Given the description of an element on the screen output the (x, y) to click on. 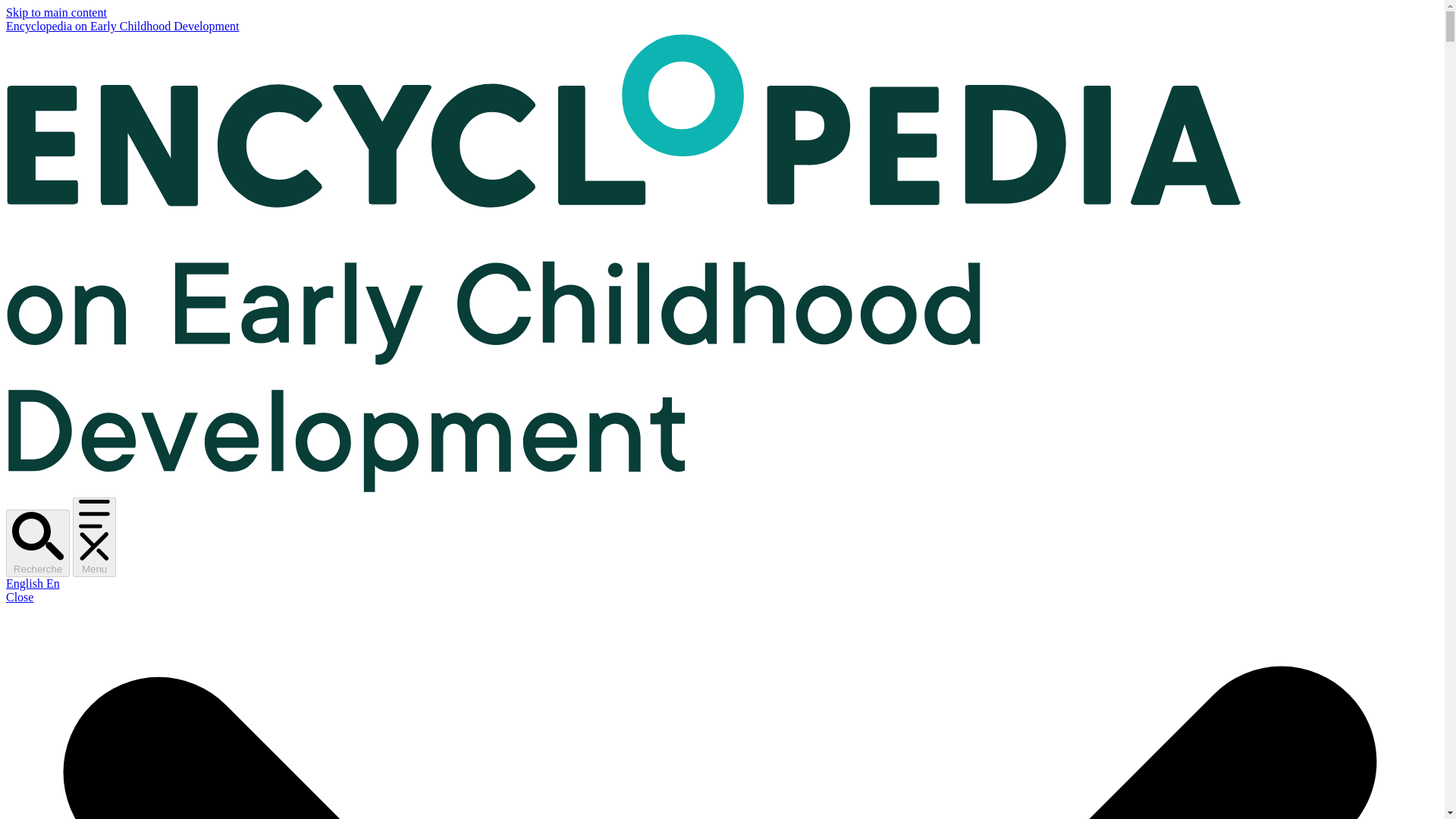
English En (32, 583)
Recherche (37, 543)
Skip to main content (55, 11)
